Given the description of an element on the screen output the (x, y) to click on. 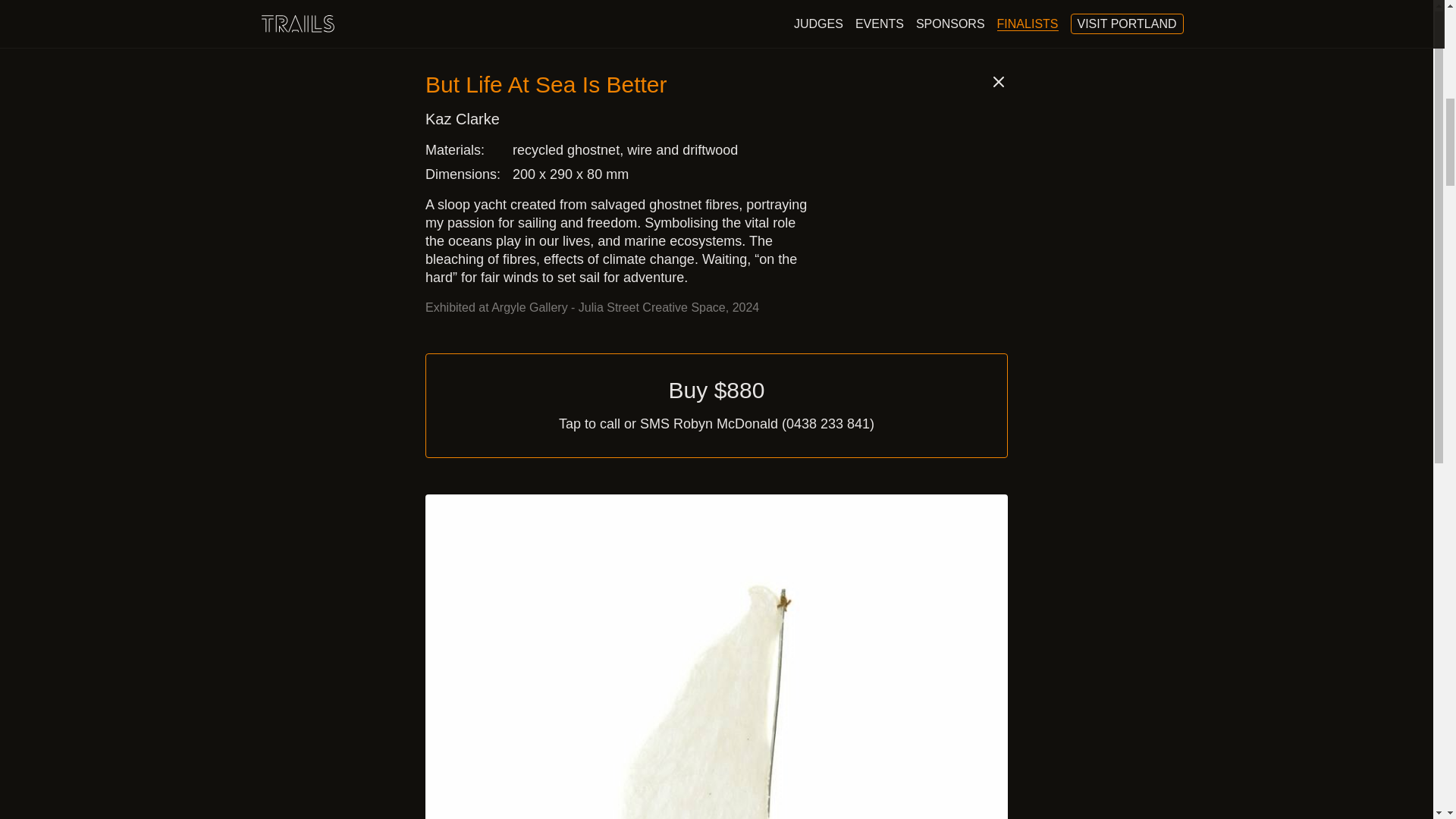
View Reef Requiem details (459, 737)
View Island series: Endeavours details (918, 93)
View Concussed Cray Cray details (524, 93)
View Cutlery Fish details (721, 737)
View Caravan details (985, 737)
